Given the description of an element on the screen output the (x, y) to click on. 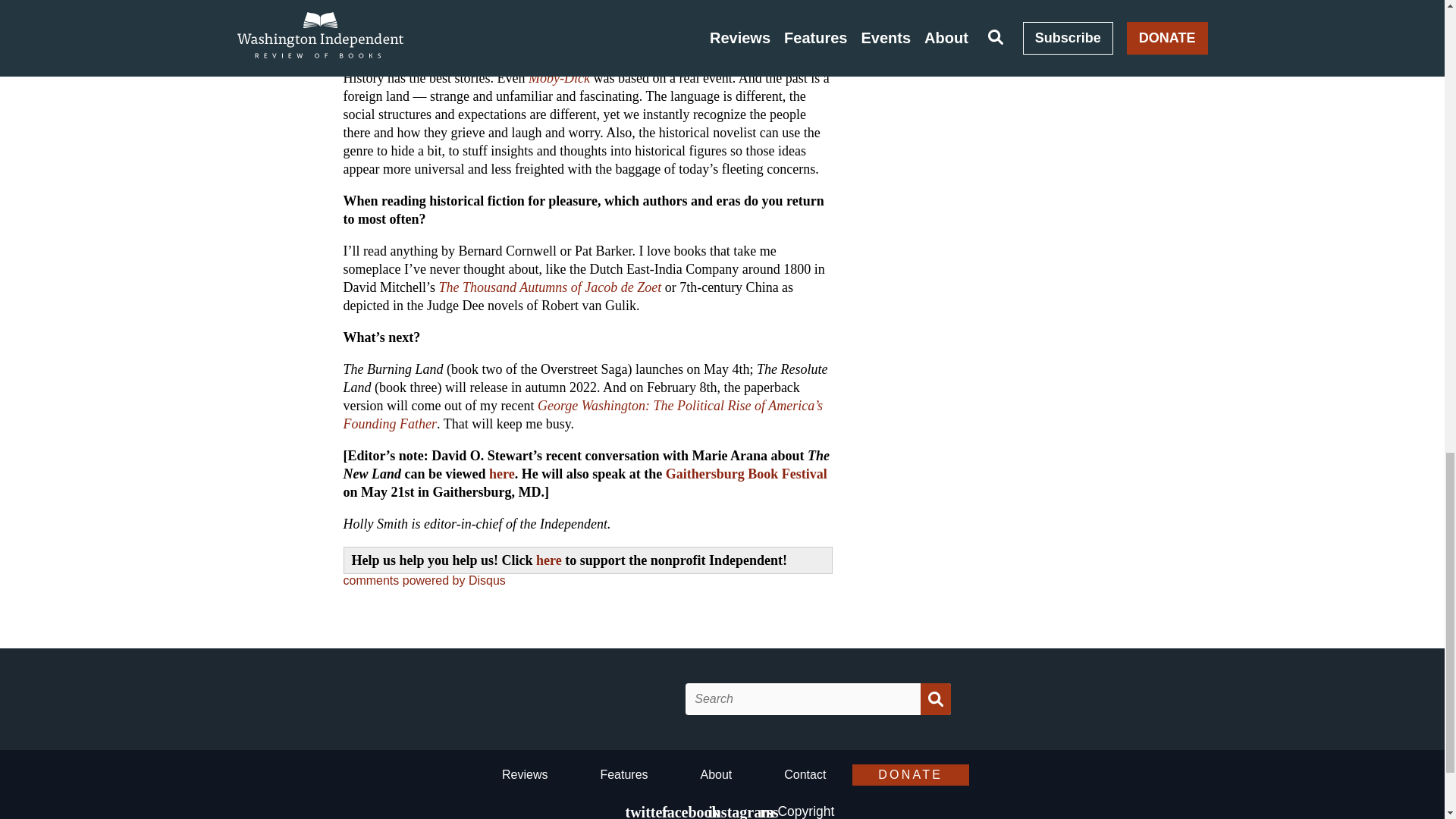
here (502, 473)
Reviews (524, 776)
here (548, 560)
Gaithersburg Book Festival (746, 473)
Washington Independent Review of Books (576, 699)
comments powered by Disqus (423, 580)
Features (623, 776)
Moby-Dick (558, 77)
The Thousand Autumns of Jacob de Zoet (549, 287)
